Given the description of an element on the screen output the (x, y) to click on. 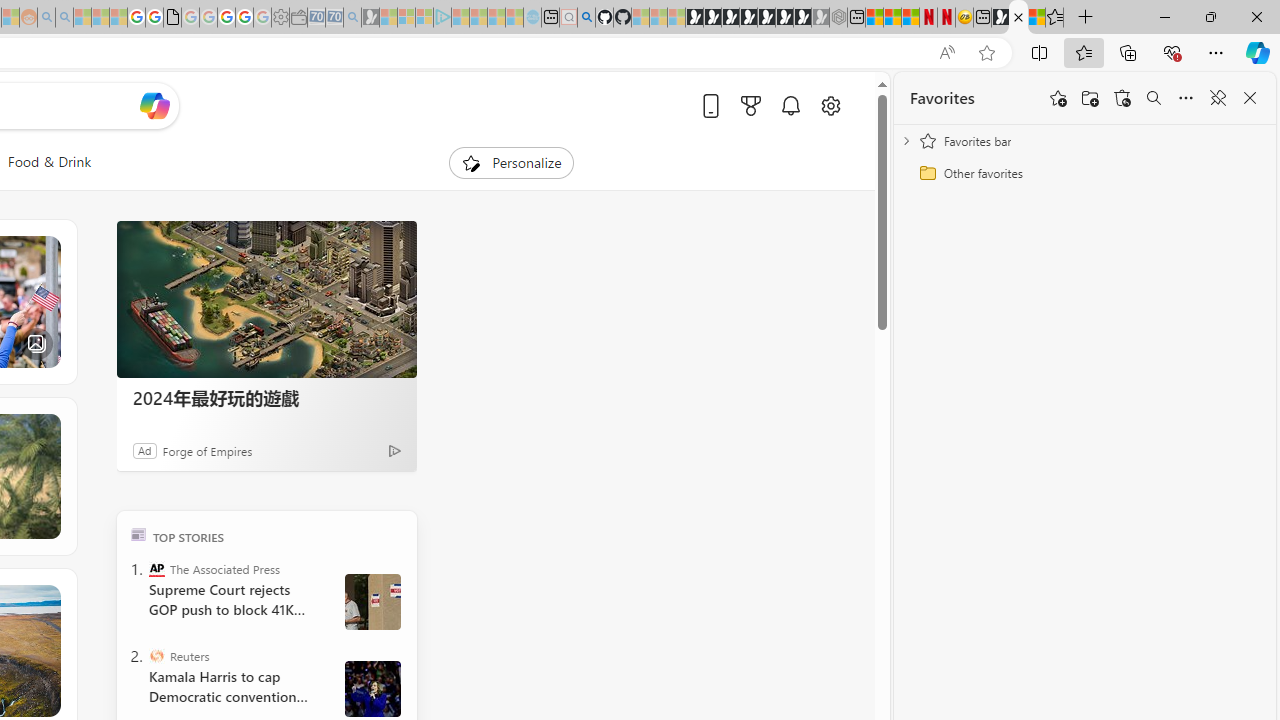
Close favorites (1250, 98)
Settings - Sleeping (280, 17)
Personalize (511, 162)
MSN (1000, 17)
Open settings (830, 105)
